Given the description of an element on the screen output the (x, y) to click on. 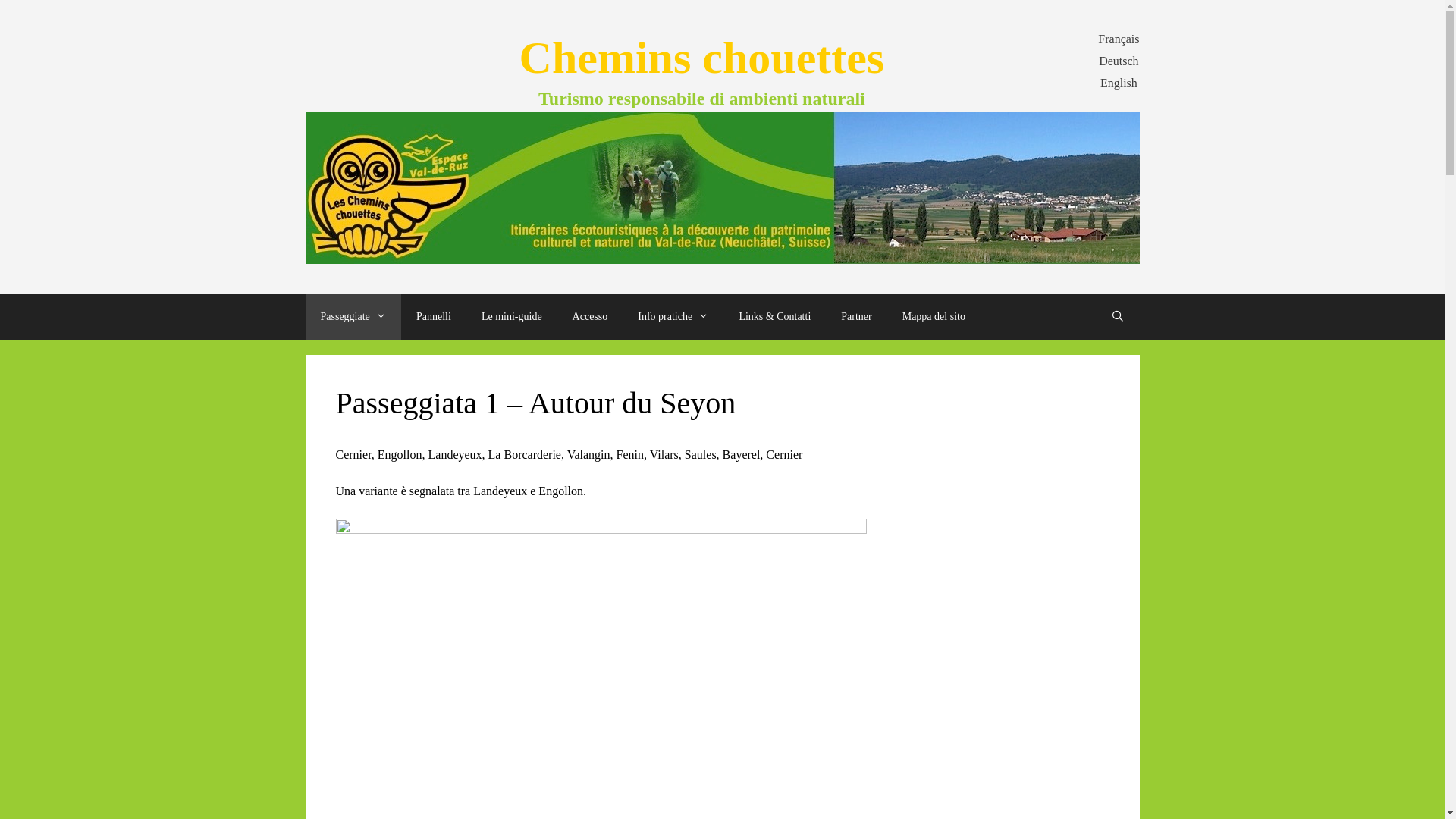
Accesso Element type: text (590, 316)
Partner Element type: text (855, 316)
Info pratiche Element type: text (672, 316)
Chemins chouettes Element type: text (701, 57)
Passeggiate Element type: text (352, 316)
Pannelli Element type: text (433, 316)
Links & Contatti Element type: text (774, 316)
Le mini-guide Element type: text (511, 316)
English Element type: text (1118, 82)
Deutsch Element type: text (1118, 60)
Mappa del sito Element type: text (933, 316)
